Given the description of an element on the screen output the (x, y) to click on. 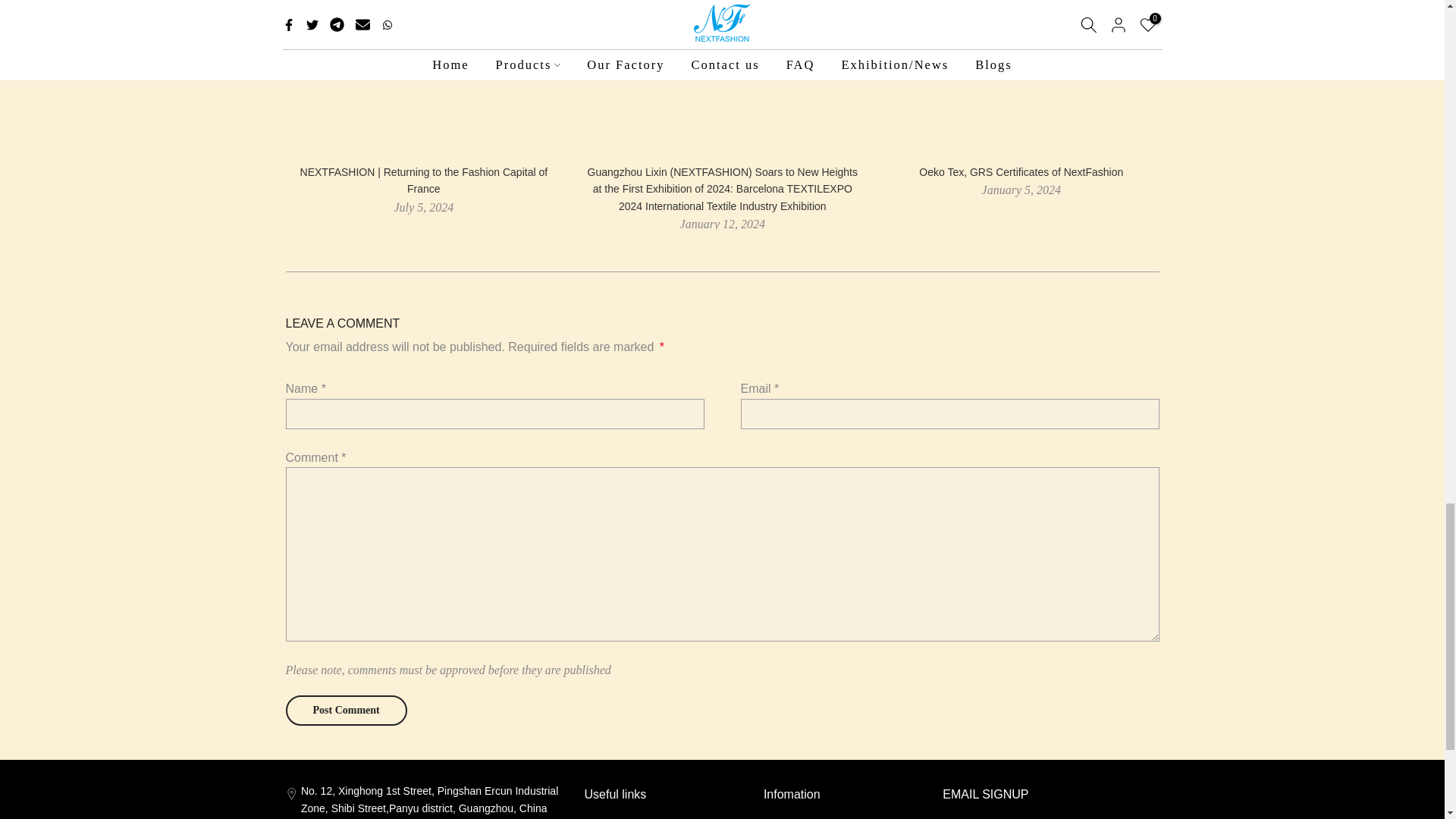
Post Comment (345, 710)
